Given the description of an element on the screen output the (x, y) to click on. 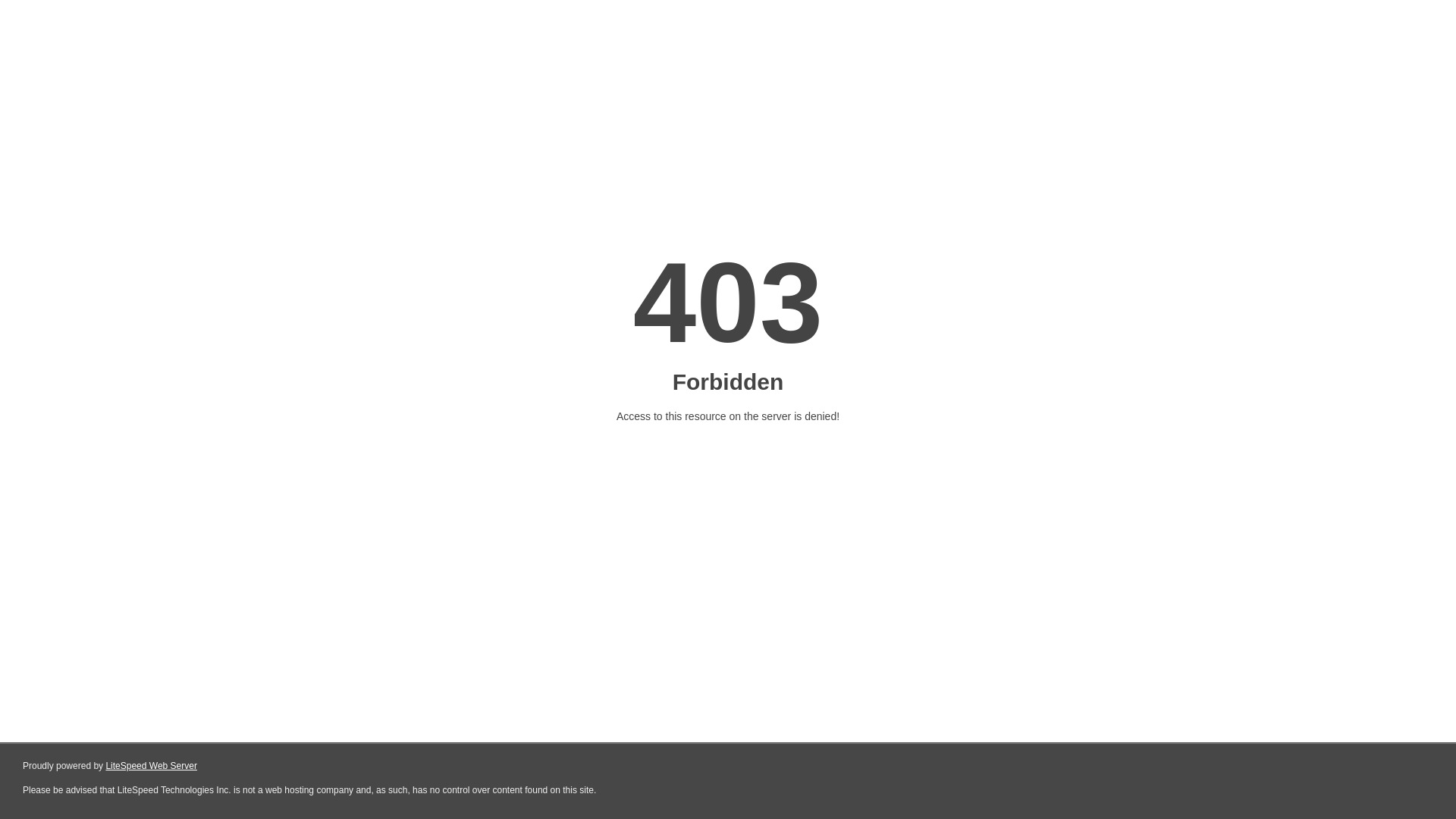
LiteSpeed Web Server Element type: text (151, 765)
